Given the description of an element on the screen output the (x, y) to click on. 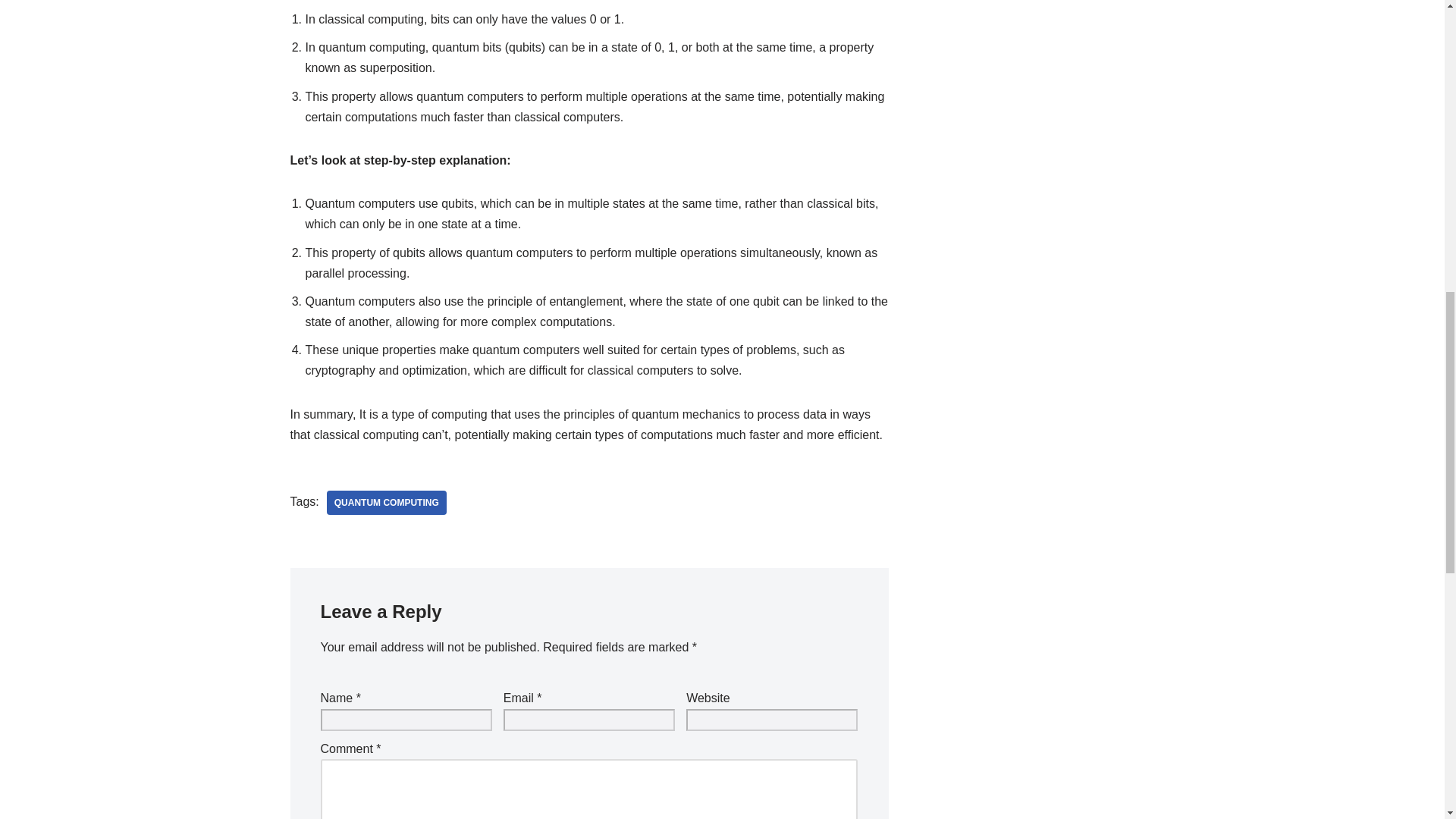
QUANTUM COMPUTING (386, 502)
Quantum Computing (386, 502)
